Given the description of an element on the screen output the (x, y) to click on. 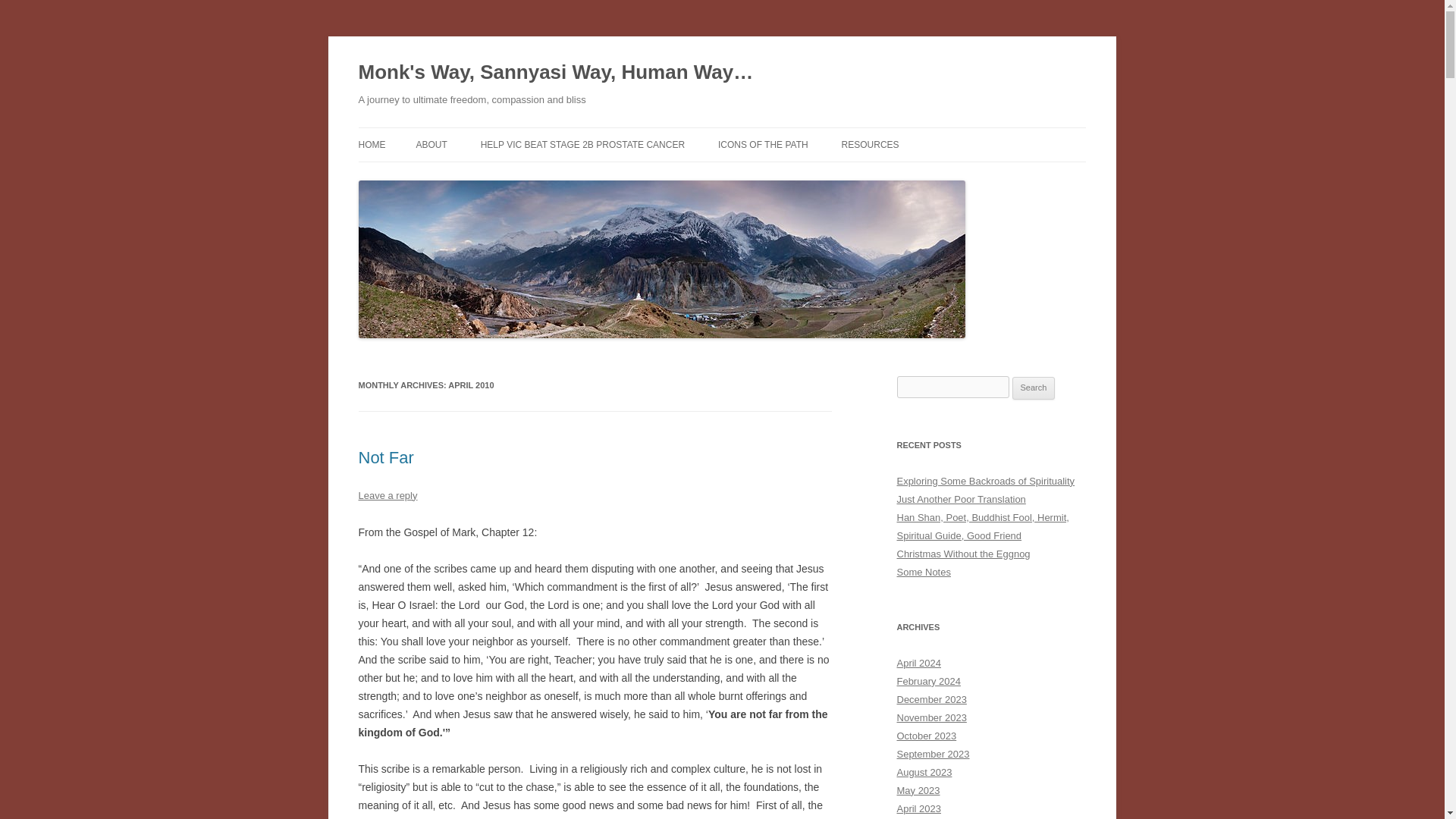
October 2023 (926, 736)
Search (1033, 387)
ICONS OF THE PATH (762, 144)
Not Far (385, 456)
Christmas Without the Eggnog (962, 553)
Exploring Some Backroads of Spirituality (985, 480)
Some Notes (923, 572)
November 2023 (931, 717)
ABOUT (430, 144)
Just Another Poor Translation (960, 499)
April 2024 (918, 663)
Search (1033, 387)
December 2023 (931, 699)
